Given the description of an element on the screen output the (x, y) to click on. 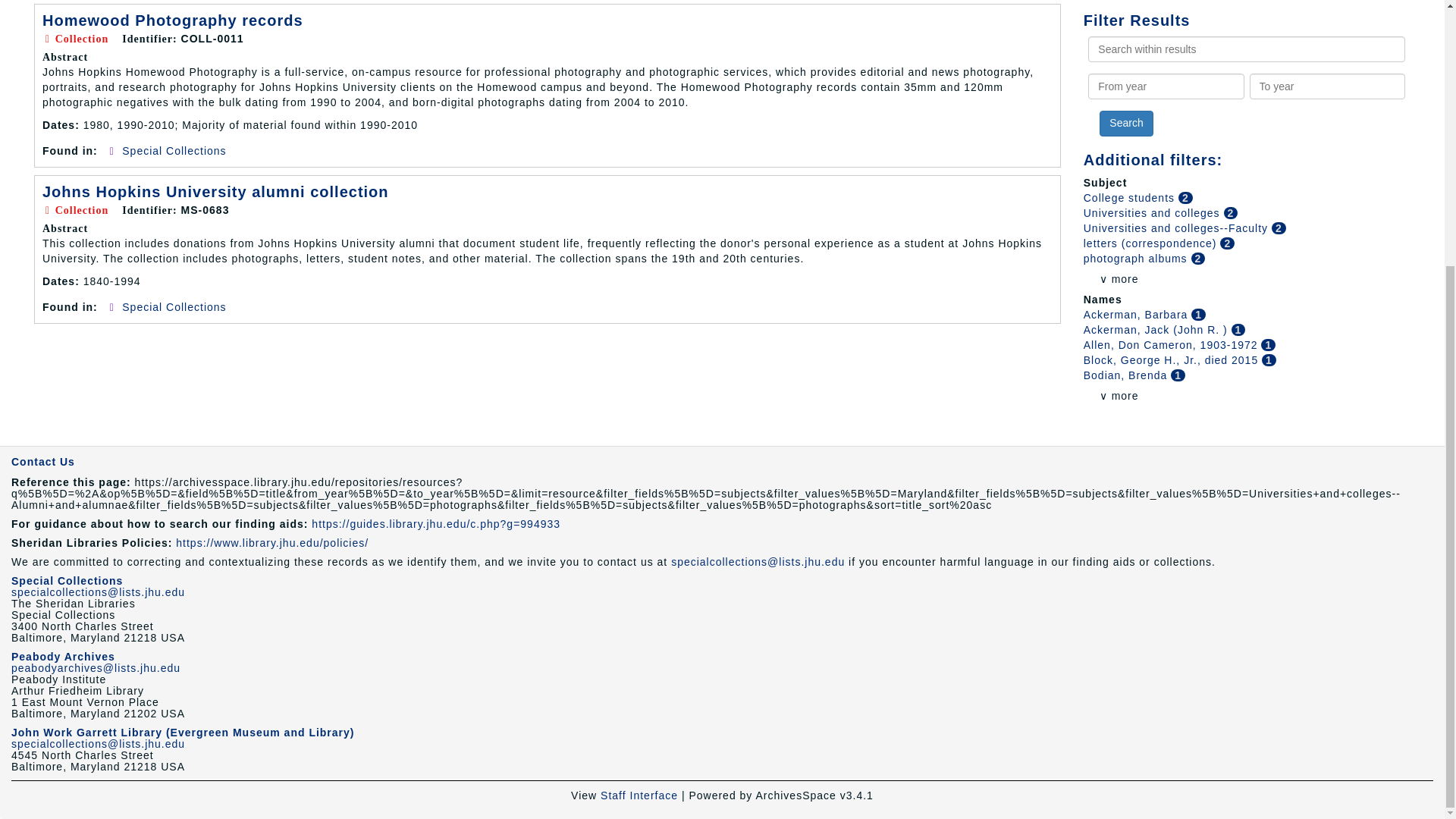
photograph albums (1137, 258)
Filter By 'Universities and colleges' (1153, 213)
Search (1126, 123)
Special Collections (173, 306)
Filter By 'photograph albums' (1137, 258)
Filter By 'College students' (1130, 197)
Universities and colleges (1153, 213)
Special Collections (173, 150)
Johns Hopkins University alumni collection (215, 191)
Filter By 'Universities and colleges--Faculty' (1177, 227)
Homewood Photography records (172, 20)
College students (1130, 197)
Universities and colleges--Faculty (1177, 227)
Search (1126, 123)
